Given the description of an element on the screen output the (x, y) to click on. 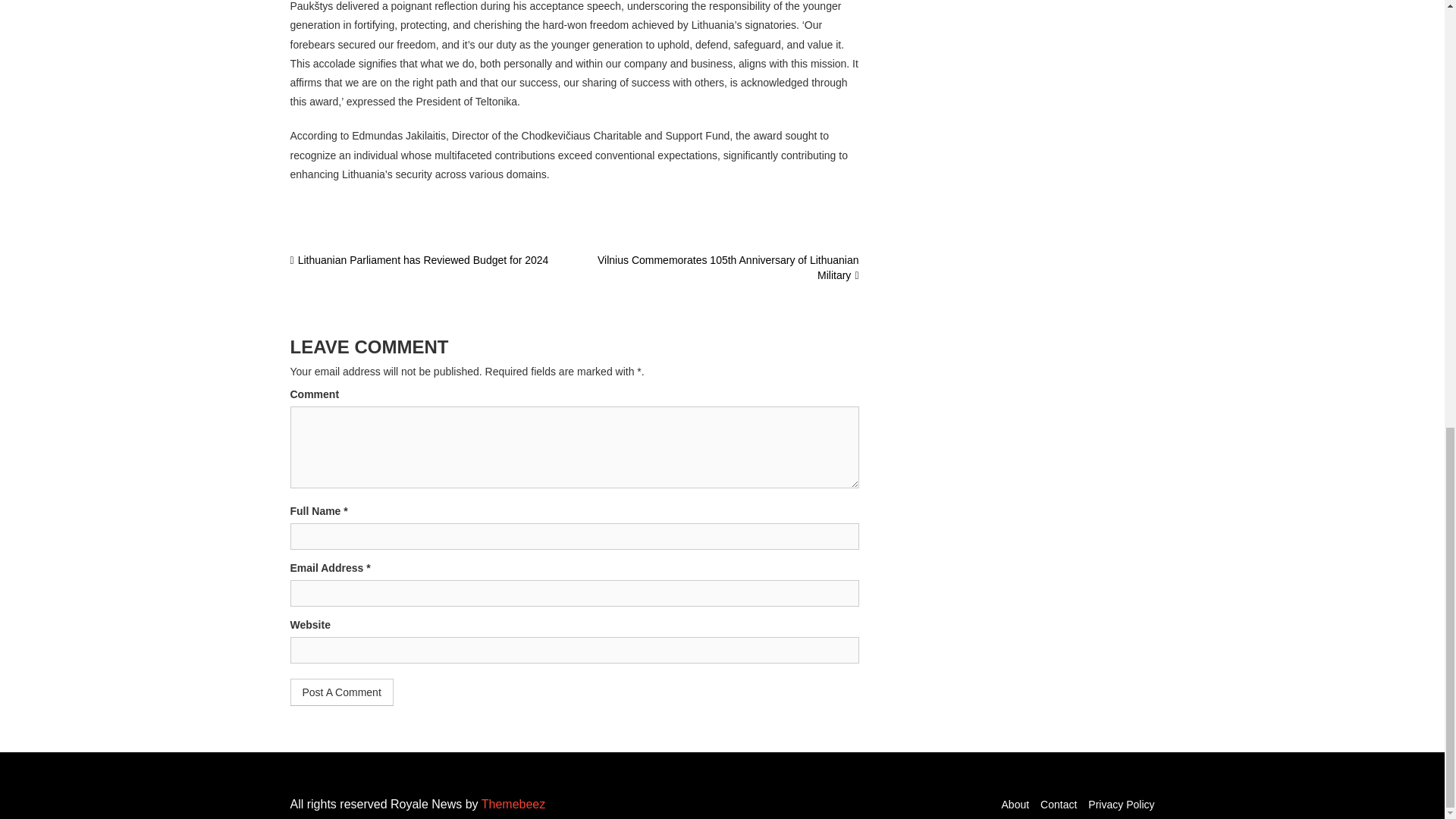
Lithuanian Parliament has Reviewed Budget for 2024 (418, 259)
Post A Comment (341, 691)
Themebeez (513, 803)
Post A Comment (341, 691)
